Given the description of an element on the screen output the (x, y) to click on. 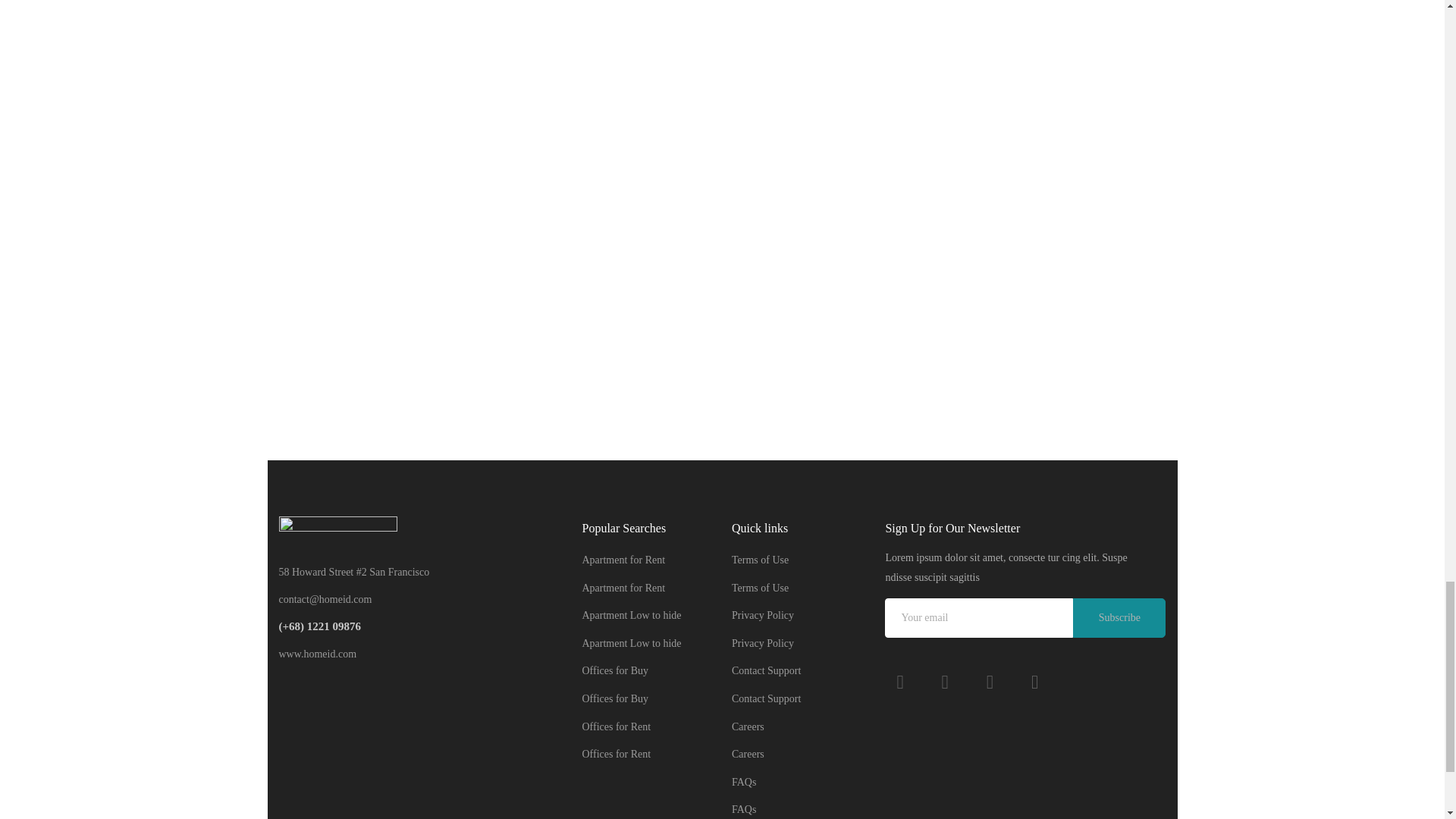
Subscribe (1119, 618)
